Given the description of an element on the screen output the (x, y) to click on. 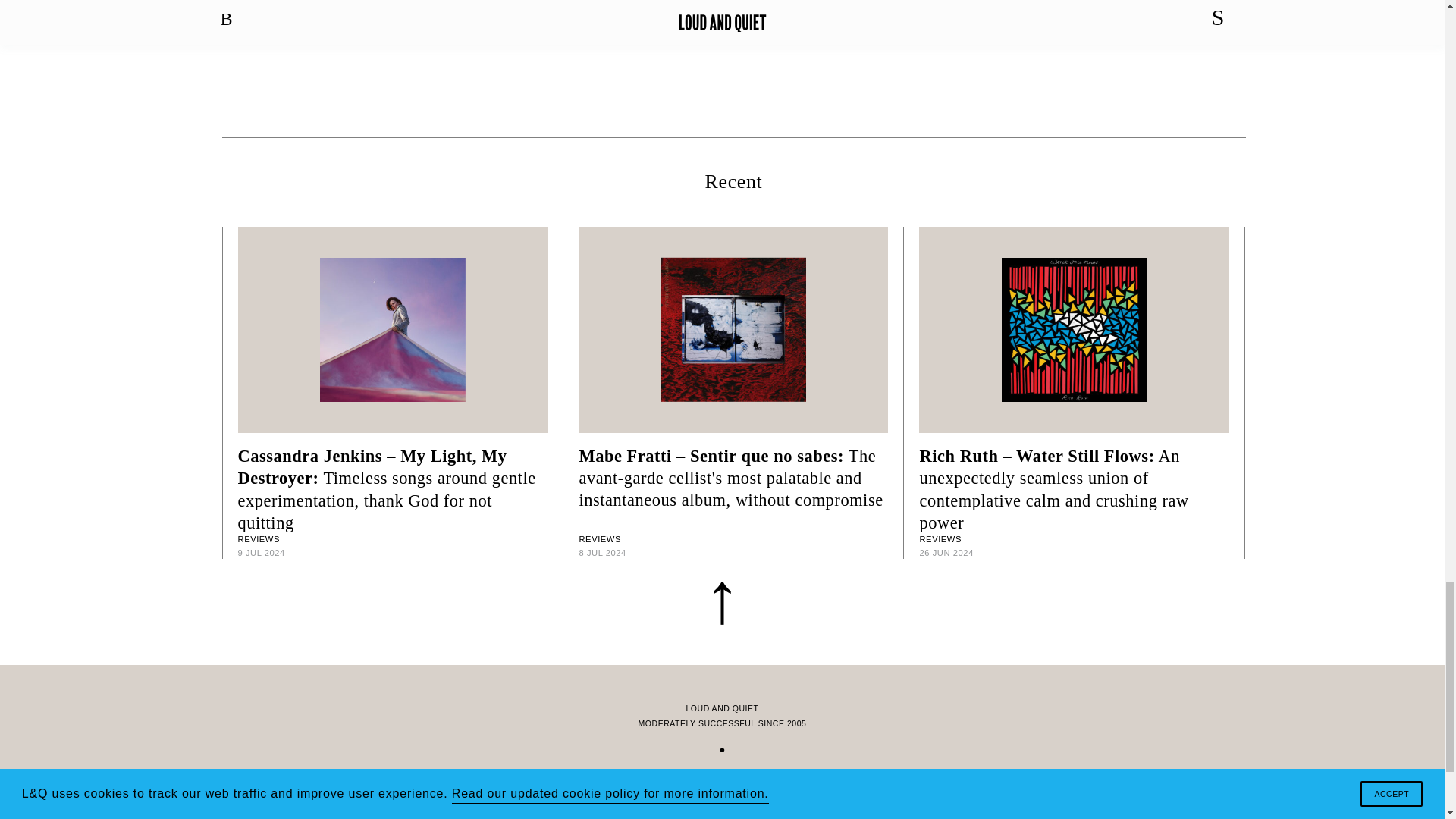
3rd party ad content (722, 57)
